Given the description of an element on the screen output the (x, y) to click on. 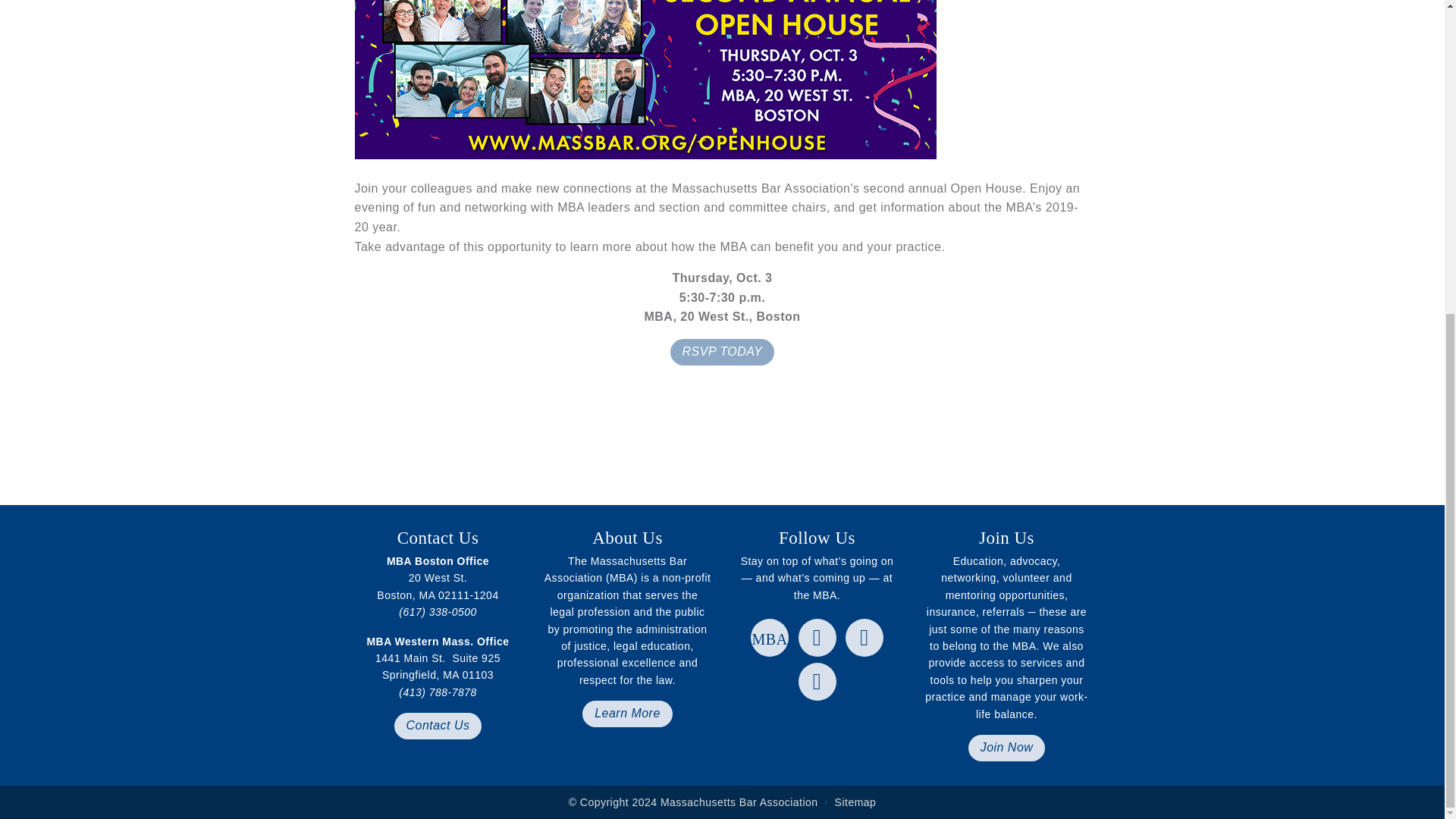
OpenHouse 0819 (645, 79)
